Given the description of an element on the screen output the (x, y) to click on. 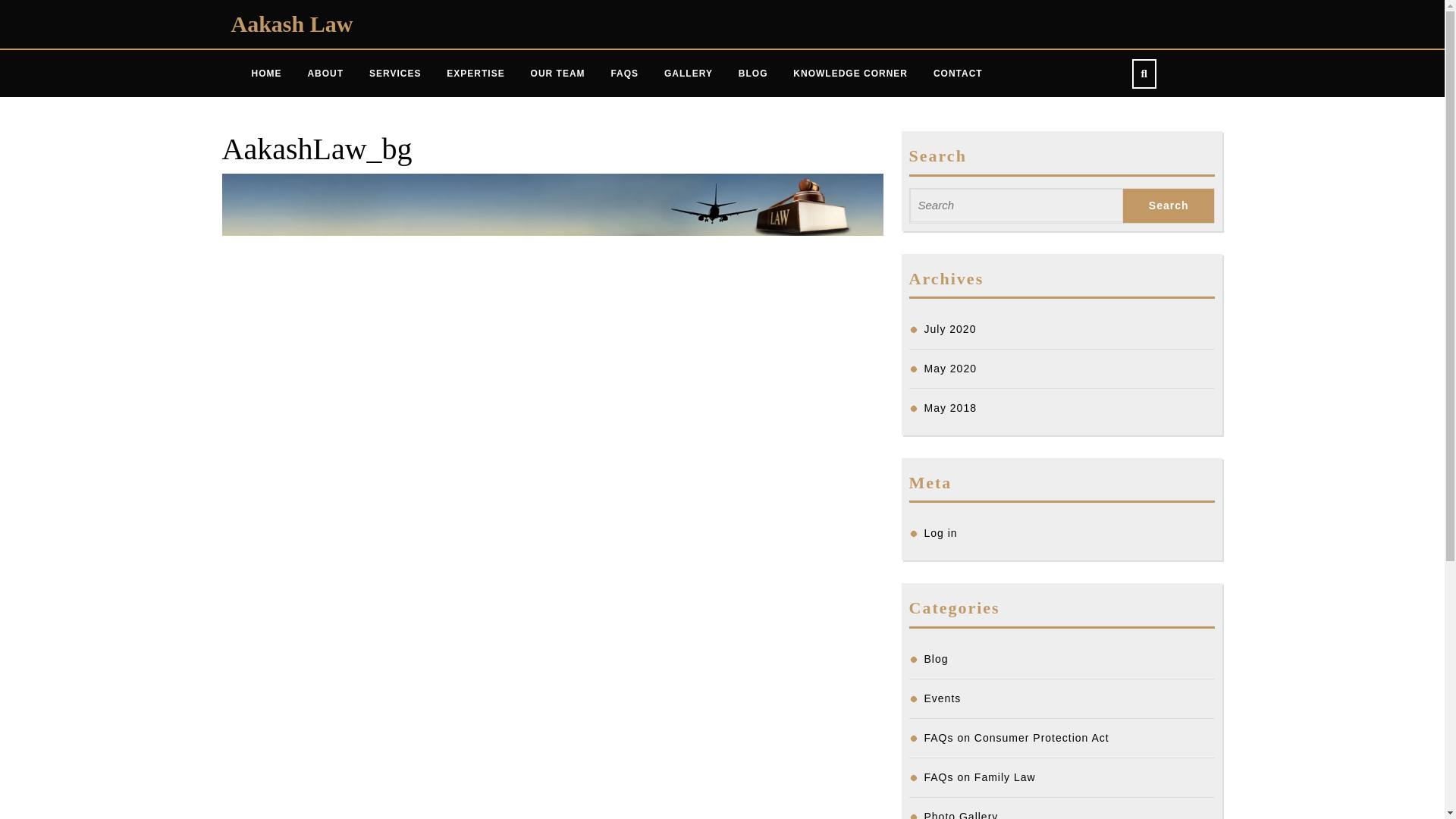
OUR TEAM (557, 73)
ABOUT (325, 73)
EXPERTISE (475, 73)
GALLERY (687, 73)
BLOG (752, 73)
Search (1168, 205)
KNOWLEDGE CORNER (849, 73)
CONTACT (957, 73)
Search (1168, 205)
FAQS (623, 73)
HOME (266, 73)
SERVICES (395, 73)
Aakash Law (291, 23)
